Given the description of an element on the screen output the (x, y) to click on. 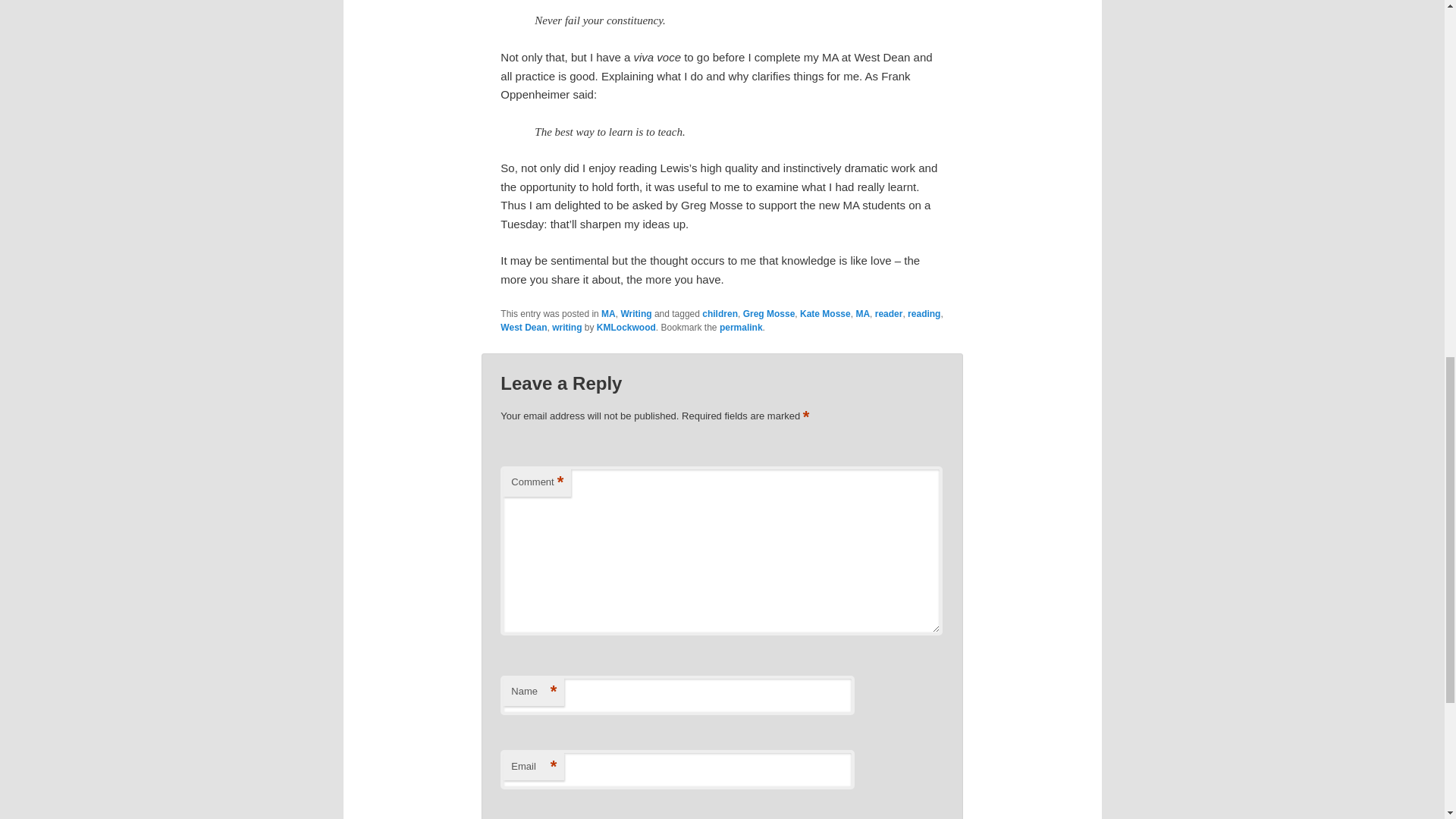
Writing (635, 313)
children (719, 313)
KMLockwood (626, 327)
writing (565, 327)
Greg Mosse (768, 313)
reading (923, 313)
MA (608, 313)
West Dean (523, 327)
MA (862, 313)
permalink (740, 327)
